Given the description of an element on the screen output the (x, y) to click on. 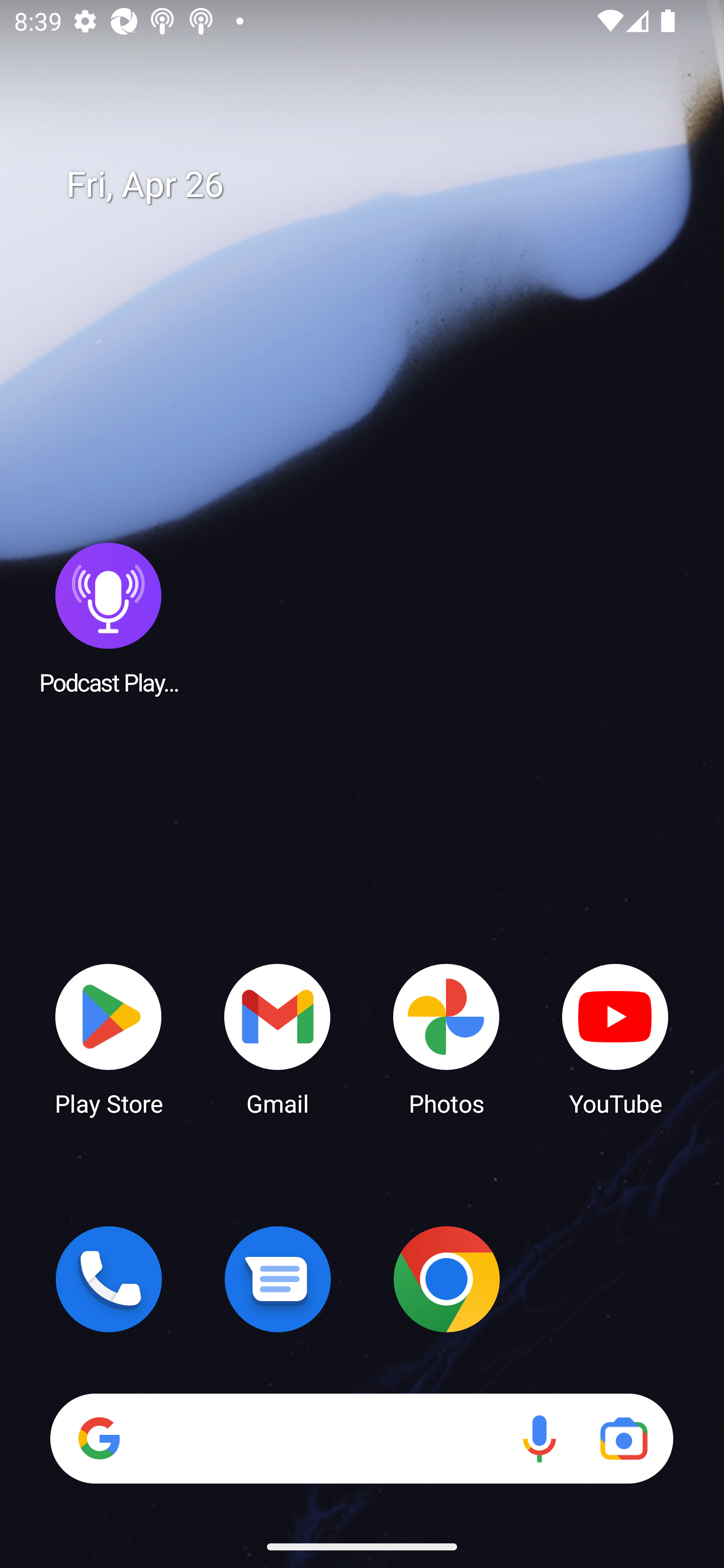
Fri, Apr 26 (375, 184)
Podcast Player (108, 617)
Play Store (108, 1038)
Gmail (277, 1038)
Photos (445, 1038)
YouTube (615, 1038)
Phone (108, 1279)
Messages (277, 1279)
Chrome (446, 1279)
Search Voice search Google Lens (361, 1438)
Voice search (539, 1438)
Google Lens (623, 1438)
